Given the description of an element on the screen output the (x, y) to click on. 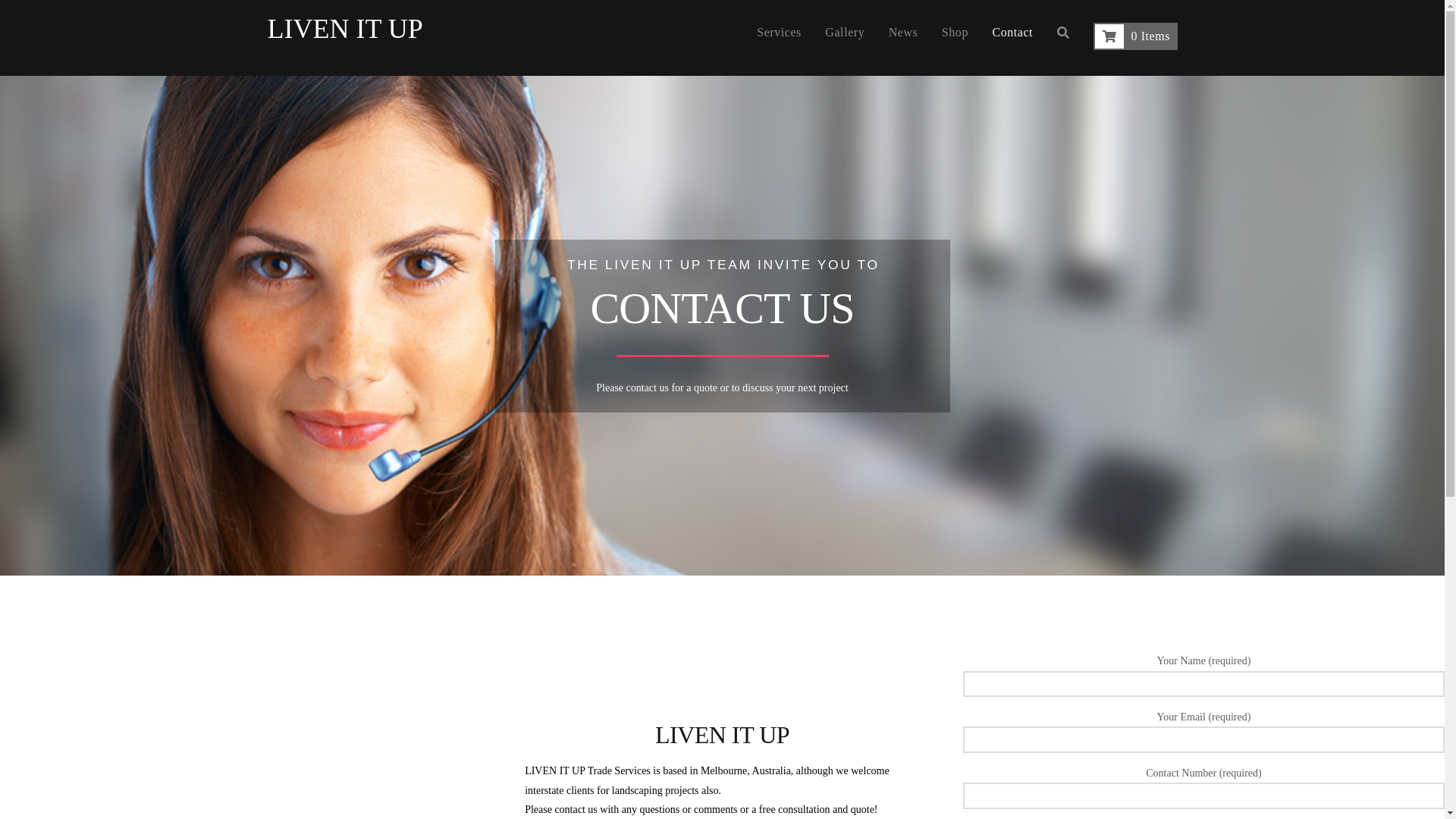
Contact Element type: text (1011, 37)
Shop Element type: text (954, 37)
Services Element type: text (778, 37)
News Element type: text (902, 37)
0 Items Element type: text (1135, 37)
Gallery Element type: text (843, 37)
LIVEN IT UP Element type: text (344, 28)
